Given the description of an element on the screen output the (x, y) to click on. 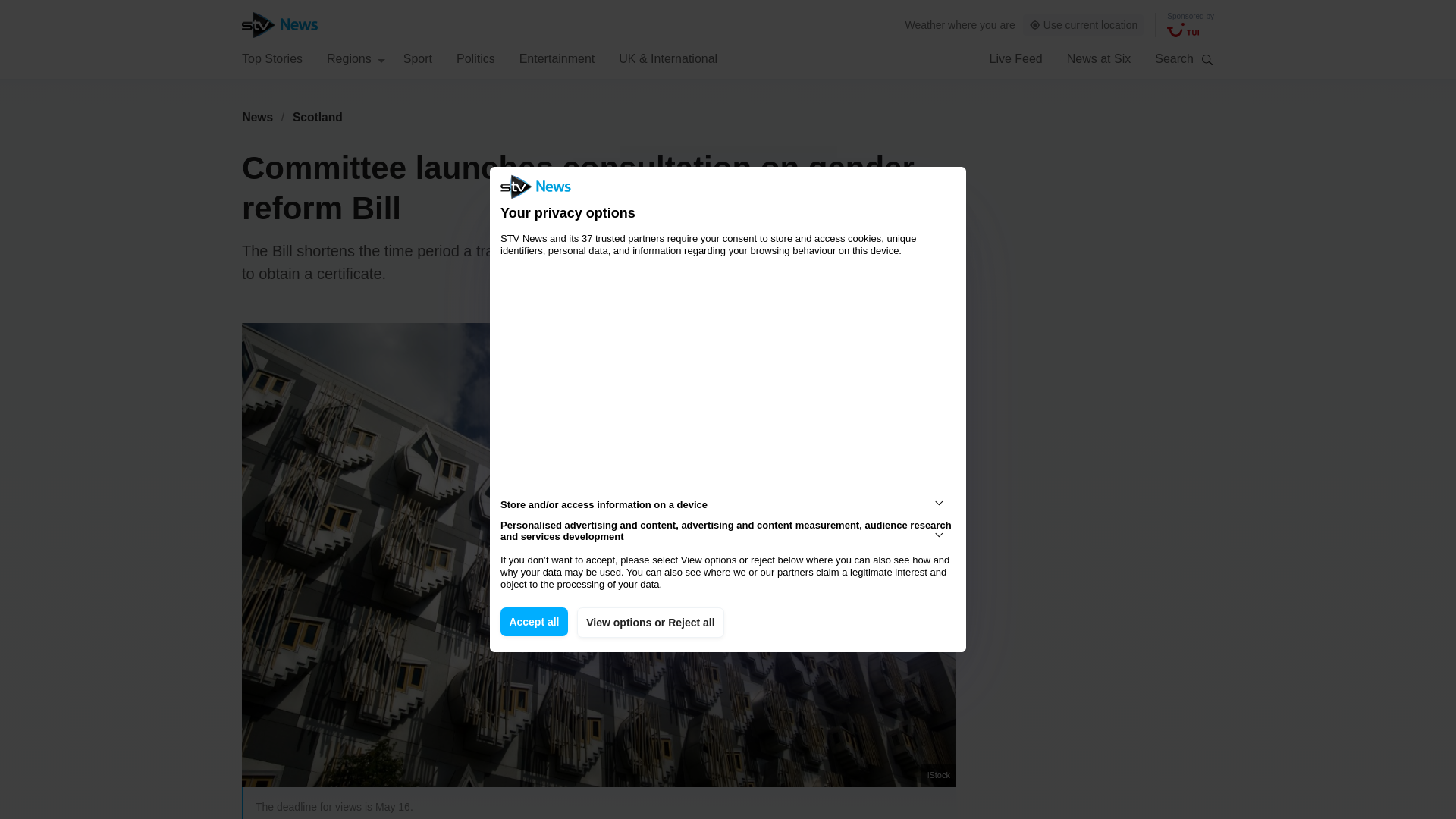
Search (1206, 59)
Live Feed (1015, 57)
Entertainment (557, 57)
News at Six (1099, 57)
Top Stories (271, 57)
Weather (924, 24)
Politics (476, 57)
Use current location (1083, 25)
Regions (355, 57)
